Given the description of an element on the screen output the (x, y) to click on. 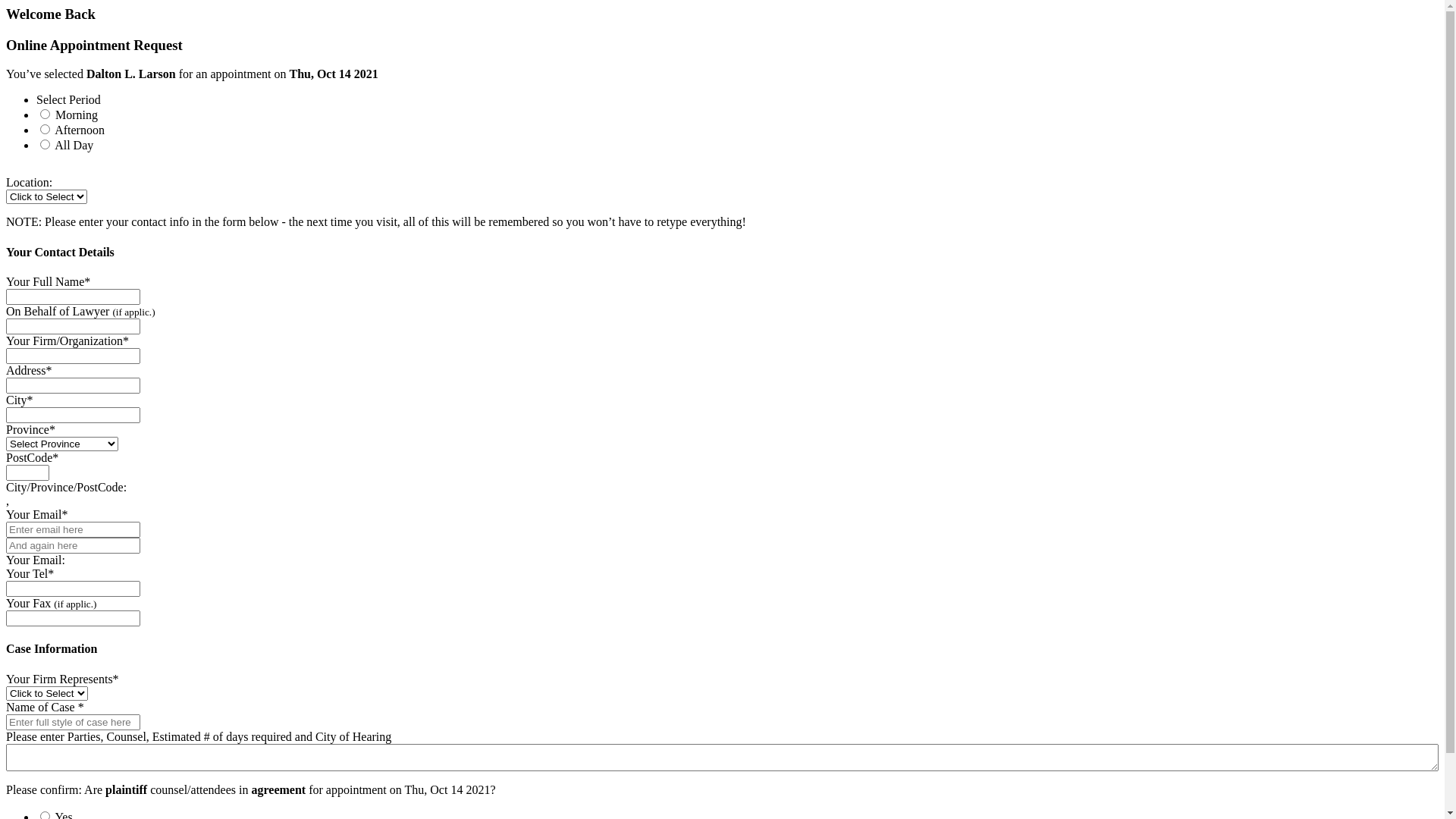
Please enter valid PostCode! Element type: hover (27, 472)
